Given the description of an element on the screen output the (x, y) to click on. 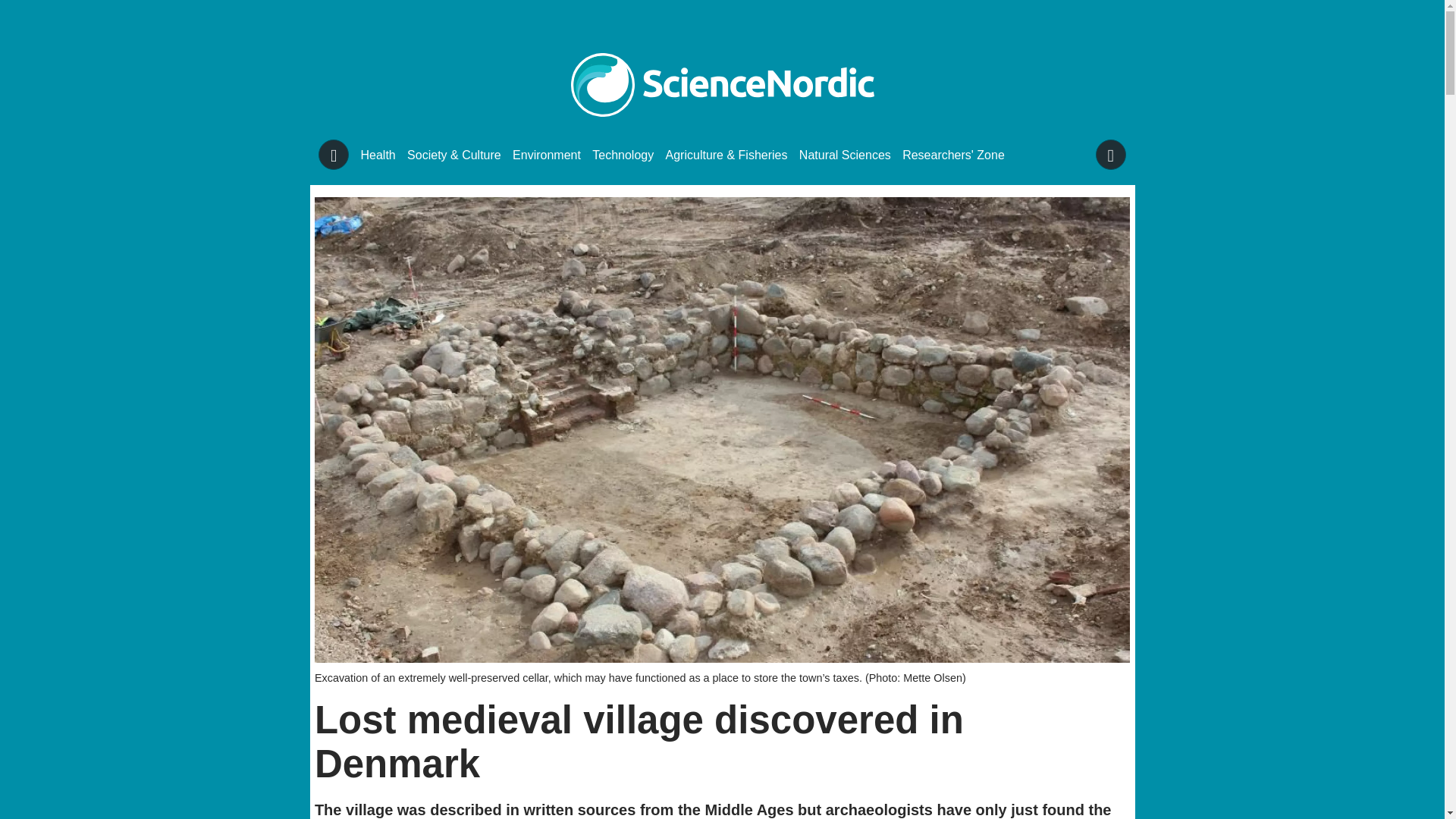
Environment (546, 154)
Natural Sciences (845, 154)
Technology (622, 154)
Health (378, 154)
Researchers' Zone (953, 154)
